Given the description of an element on the screen output the (x, y) to click on. 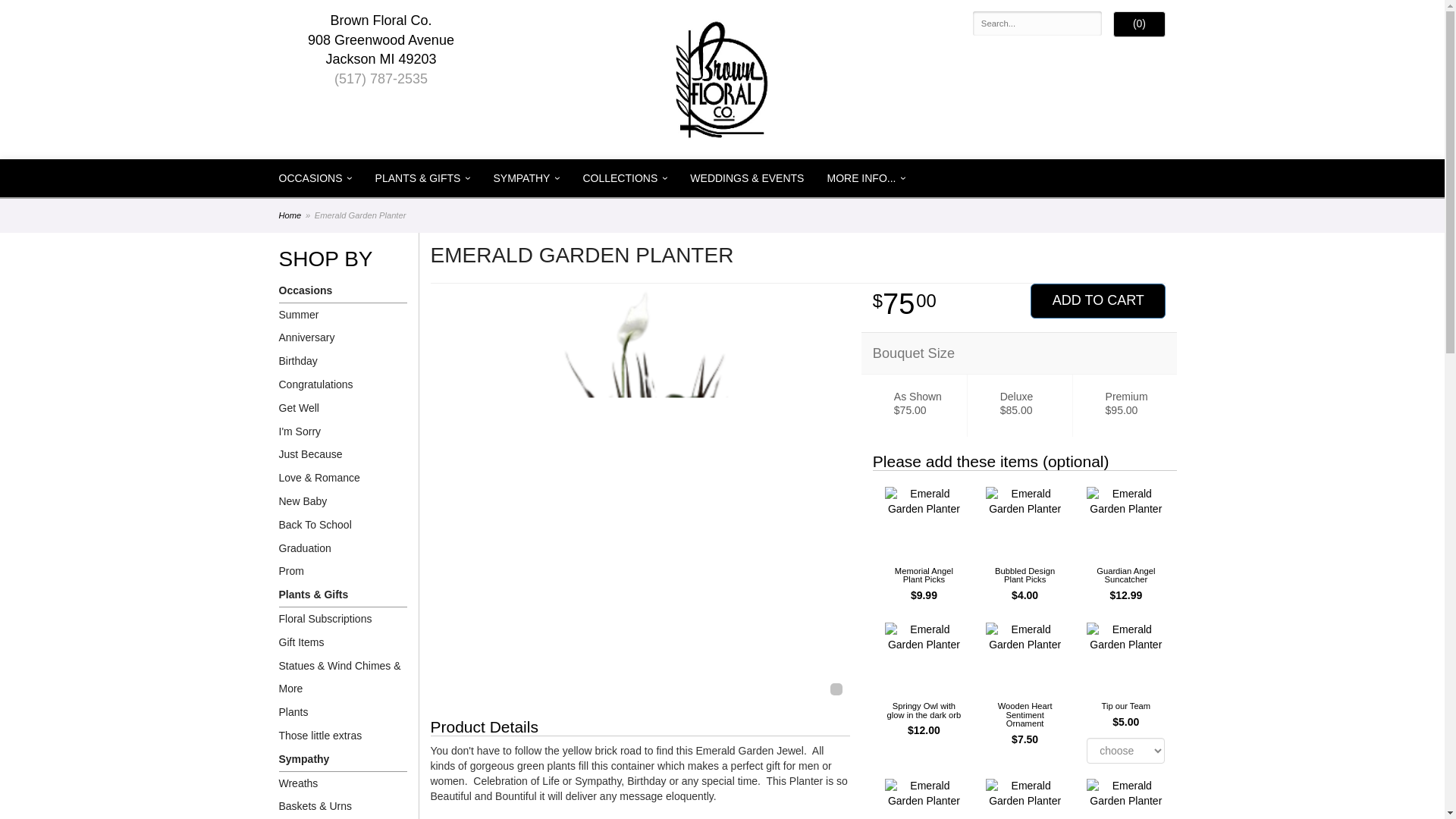
COLLECTIONS (624, 177)
SYMPATHY (525, 177)
OCCASIONS (314, 177)
